Given the description of an element on the screen output the (x, y) to click on. 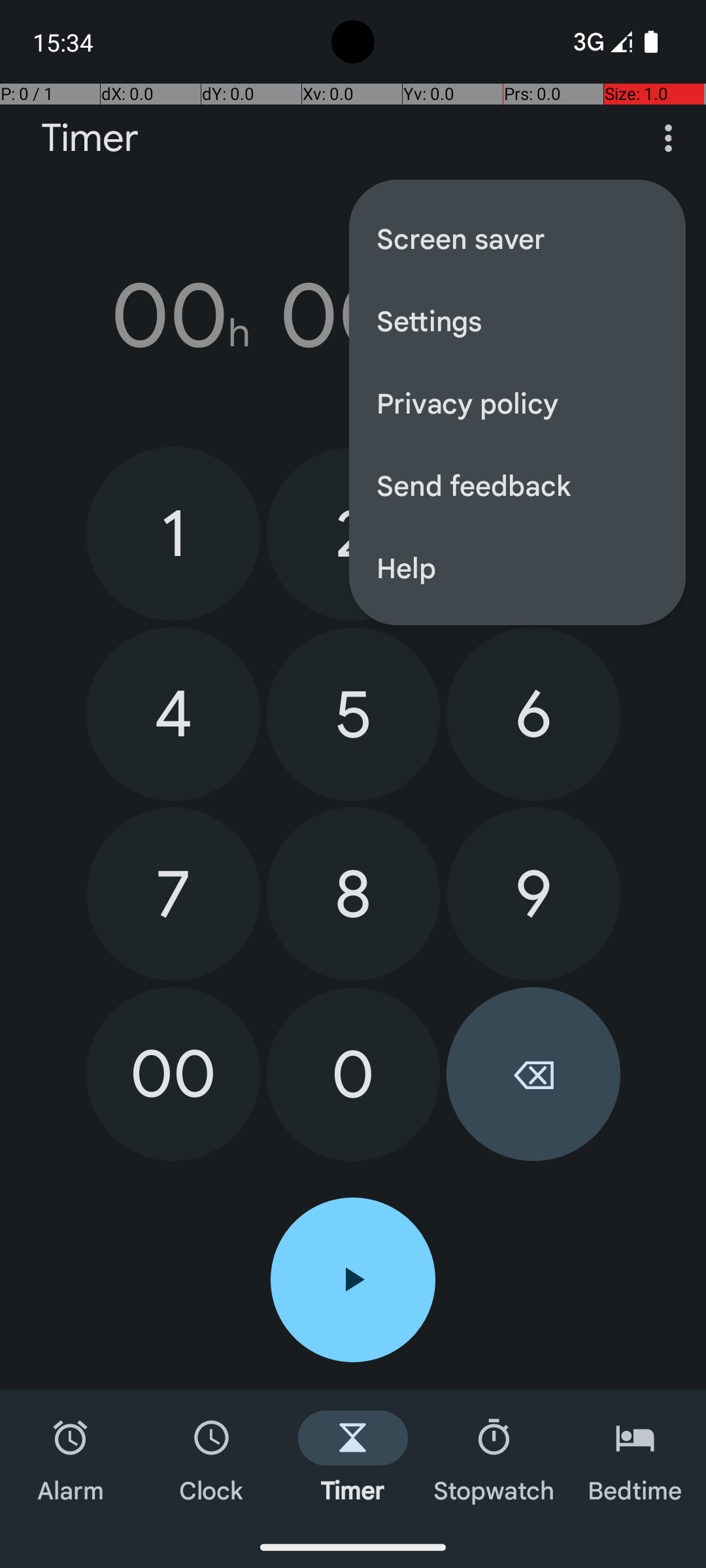
Screen saver Element type: android.widget.TextView (517, 237)
